Given the description of an element on the screen output the (x, y) to click on. 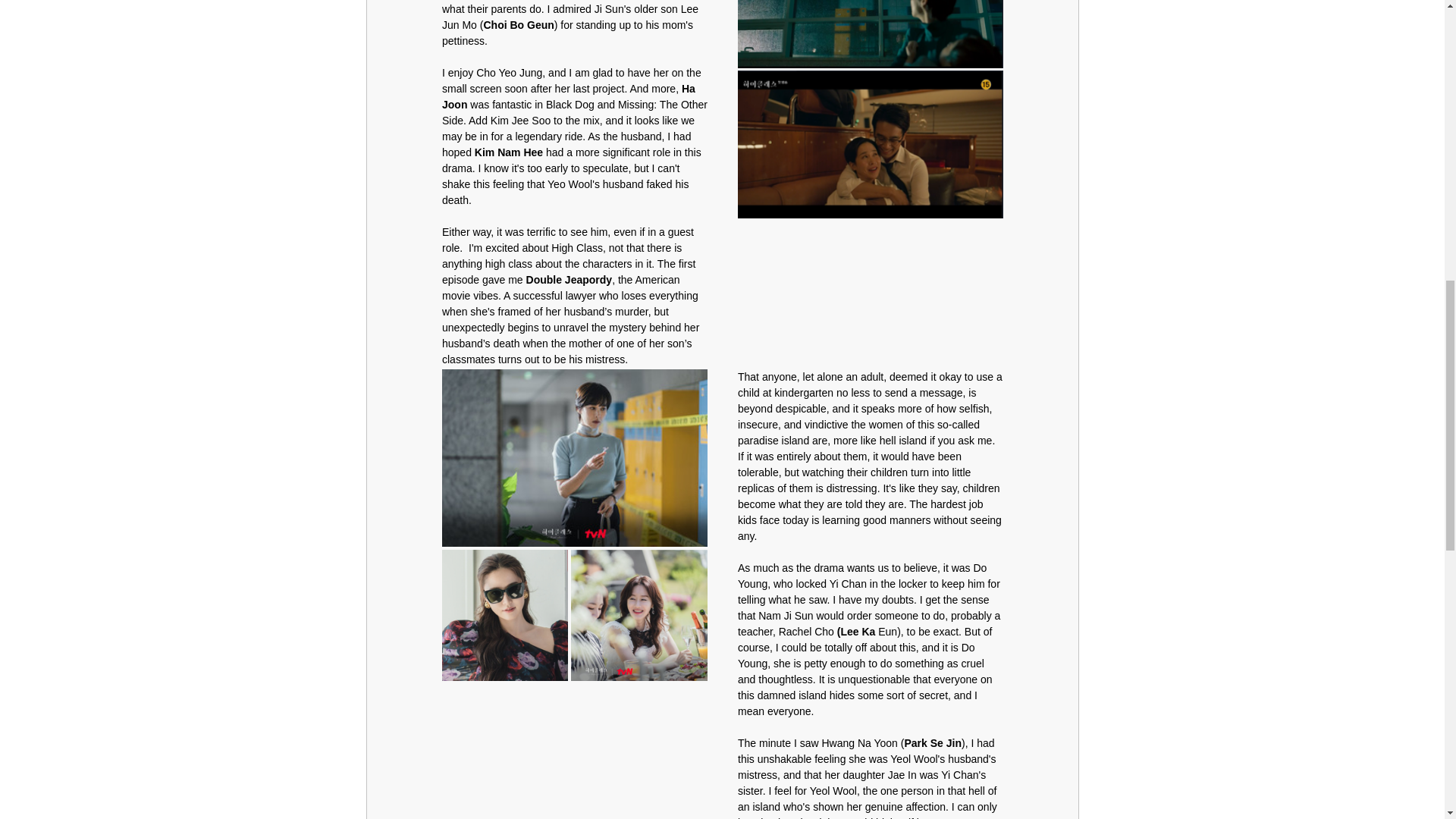
Lee Ka  (858, 631)
Double Jeapordy (568, 279)
Ha Joon (569, 96)
Kim Nam Hee (507, 152)
